Given the description of an element on the screen output the (x, y) to click on. 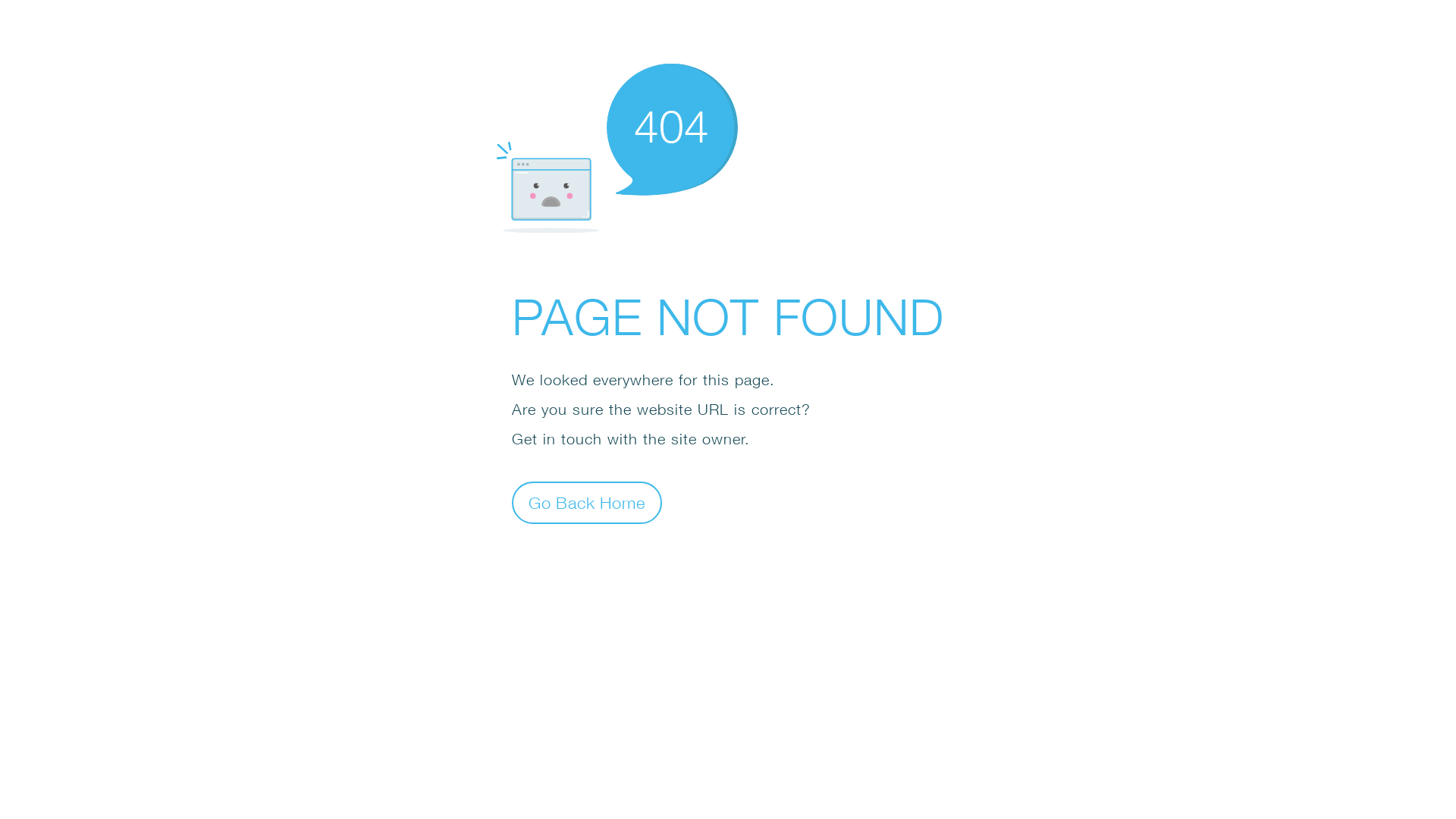
Go Back Home Element type: text (586, 502)
